Given the description of an element on the screen output the (x, y) to click on. 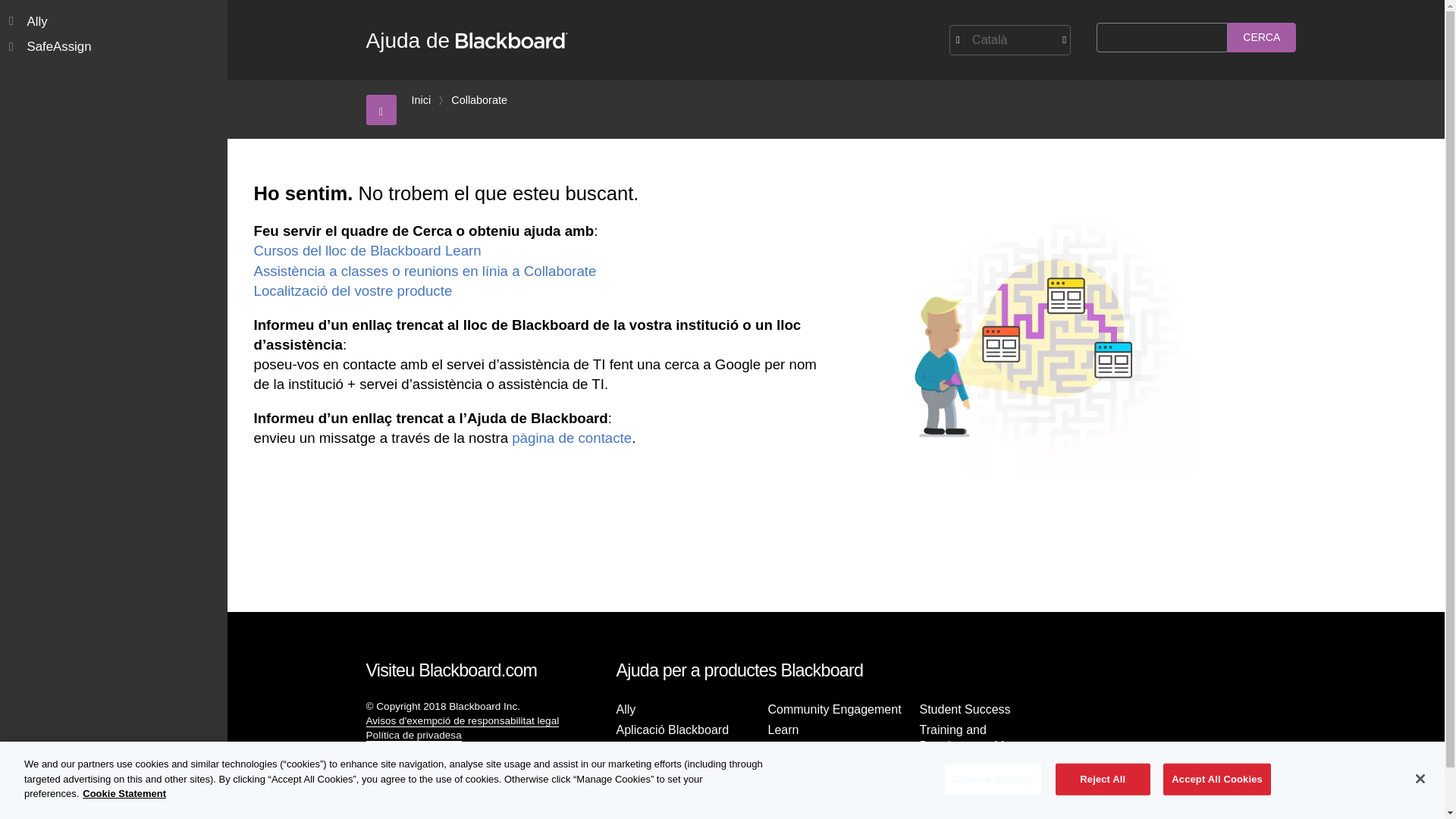
Cursos del lloc de Blackboard Learn (366, 250)
Visiteu Blackboard.com (451, 670)
Student Success (964, 709)
Cerca (1261, 37)
SmartView (796, 771)
Recursos per al client (414, 776)
Cerca (1261, 37)
Entra (377, 813)
Collaborate (646, 771)
Learn (782, 730)
